Given the description of an element on the screen output the (x, y) to click on. 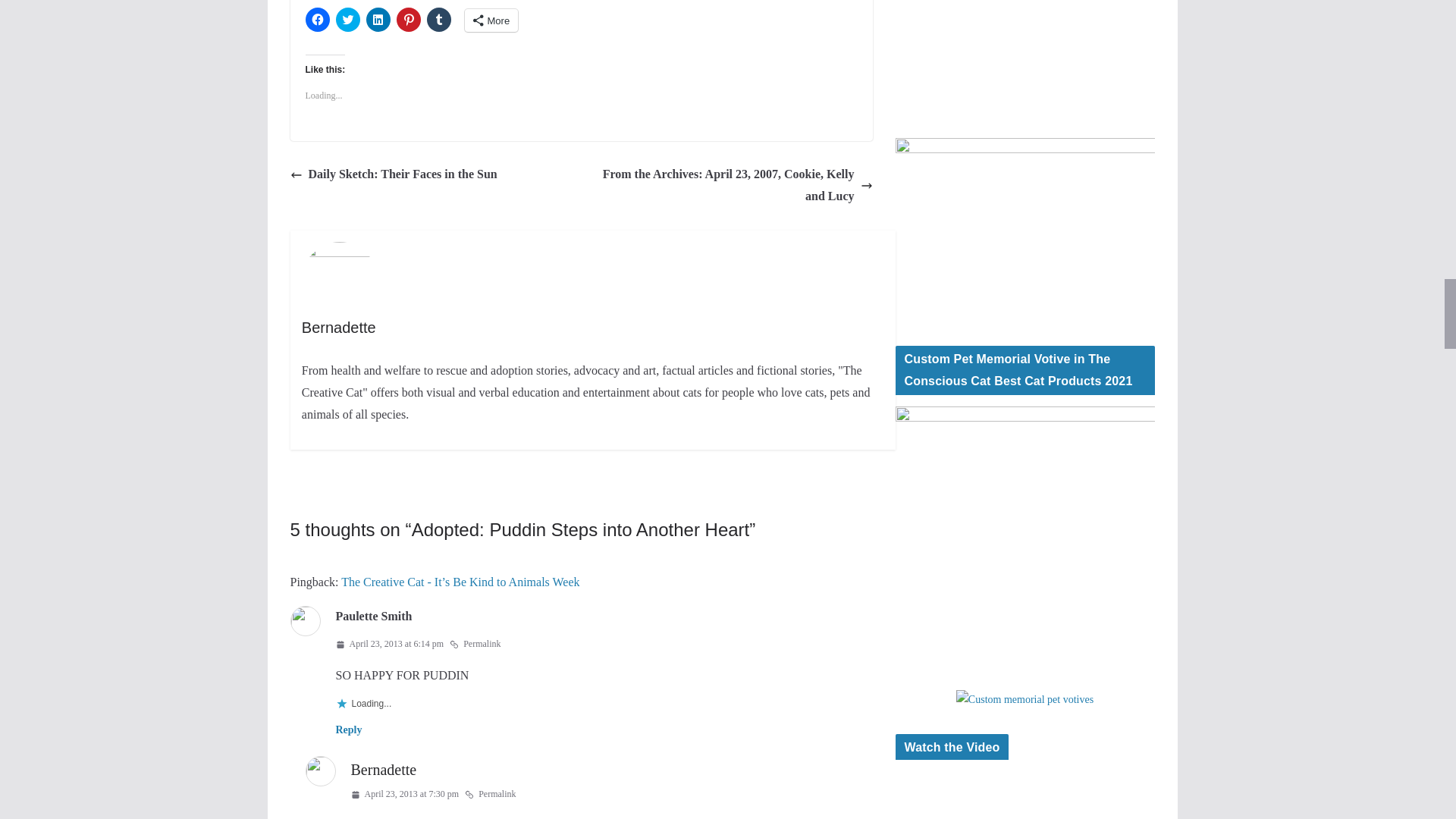
Click to share on LinkedIn (377, 19)
Click to share on Twitter (346, 19)
Click to share on Facebook (316, 19)
Click to share on Pinterest (408, 19)
Click to share on Tumblr (437, 19)
